Given the description of an element on the screen output the (x, y) to click on. 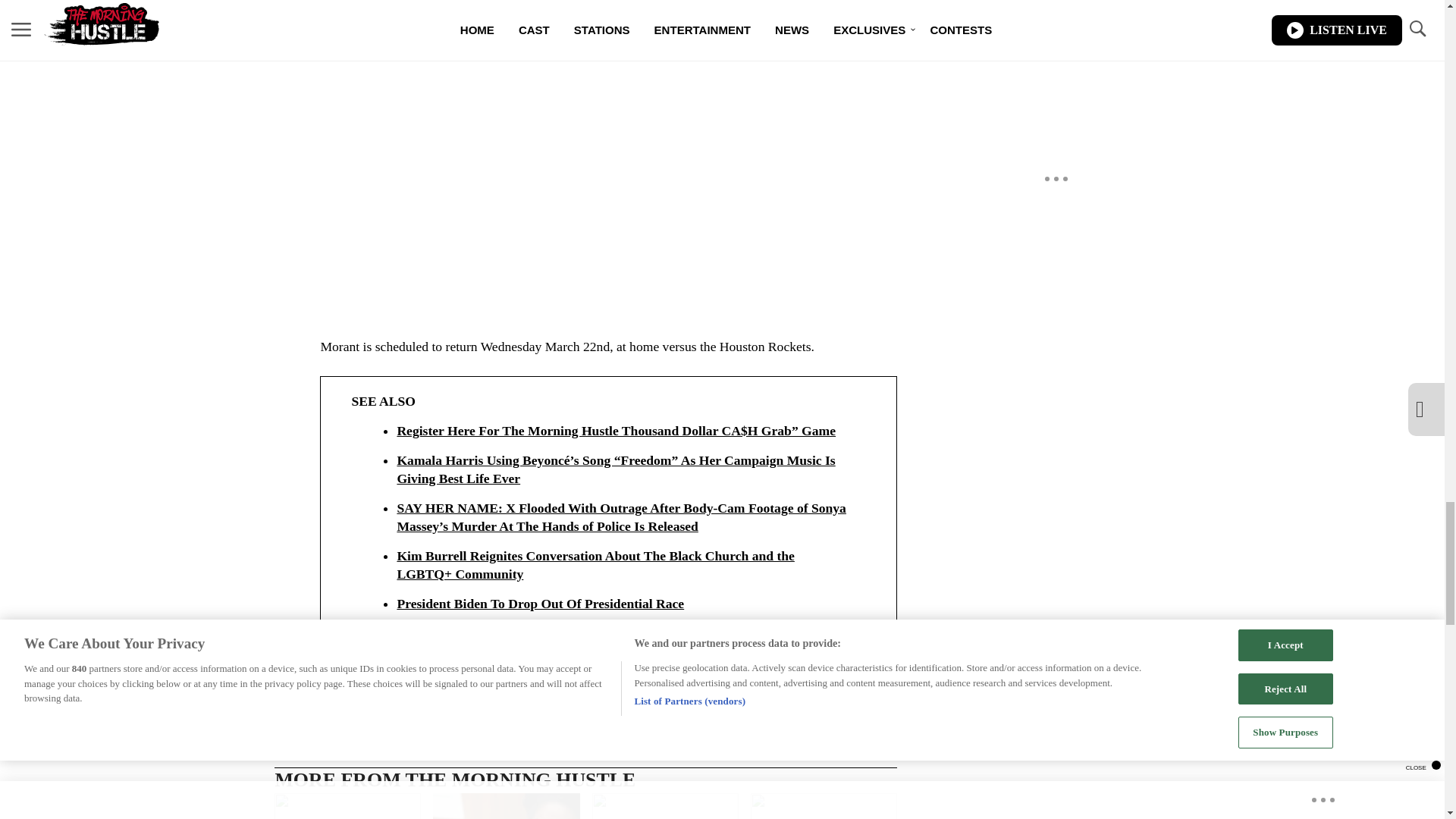
Embedded video (607, 142)
RIP: Black Singers Who Died in the Last 10 Years (347, 806)
rnbphilly.com (356, 676)
President Biden To Drop Out Of Presidential Race (623, 603)
President Biden To Drop Out Of Presidential Race (823, 806)
